Given the description of an element on the screen output the (x, y) to click on. 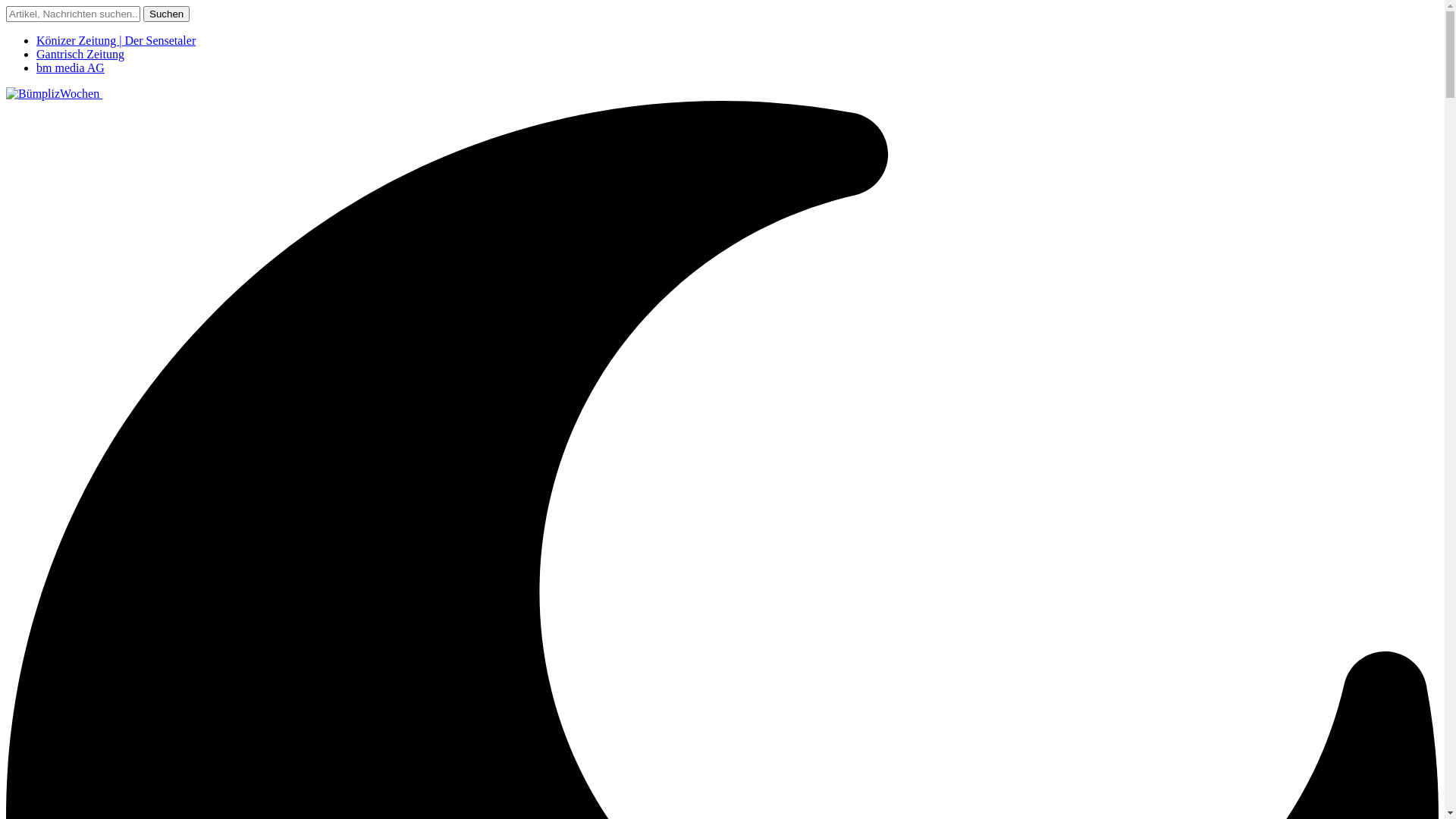
Suchen Element type: text (166, 13)
bm media AG Element type: text (70, 67)
Gantrisch Zeitung Element type: text (80, 53)
